Given the description of an element on the screen output the (x, y) to click on. 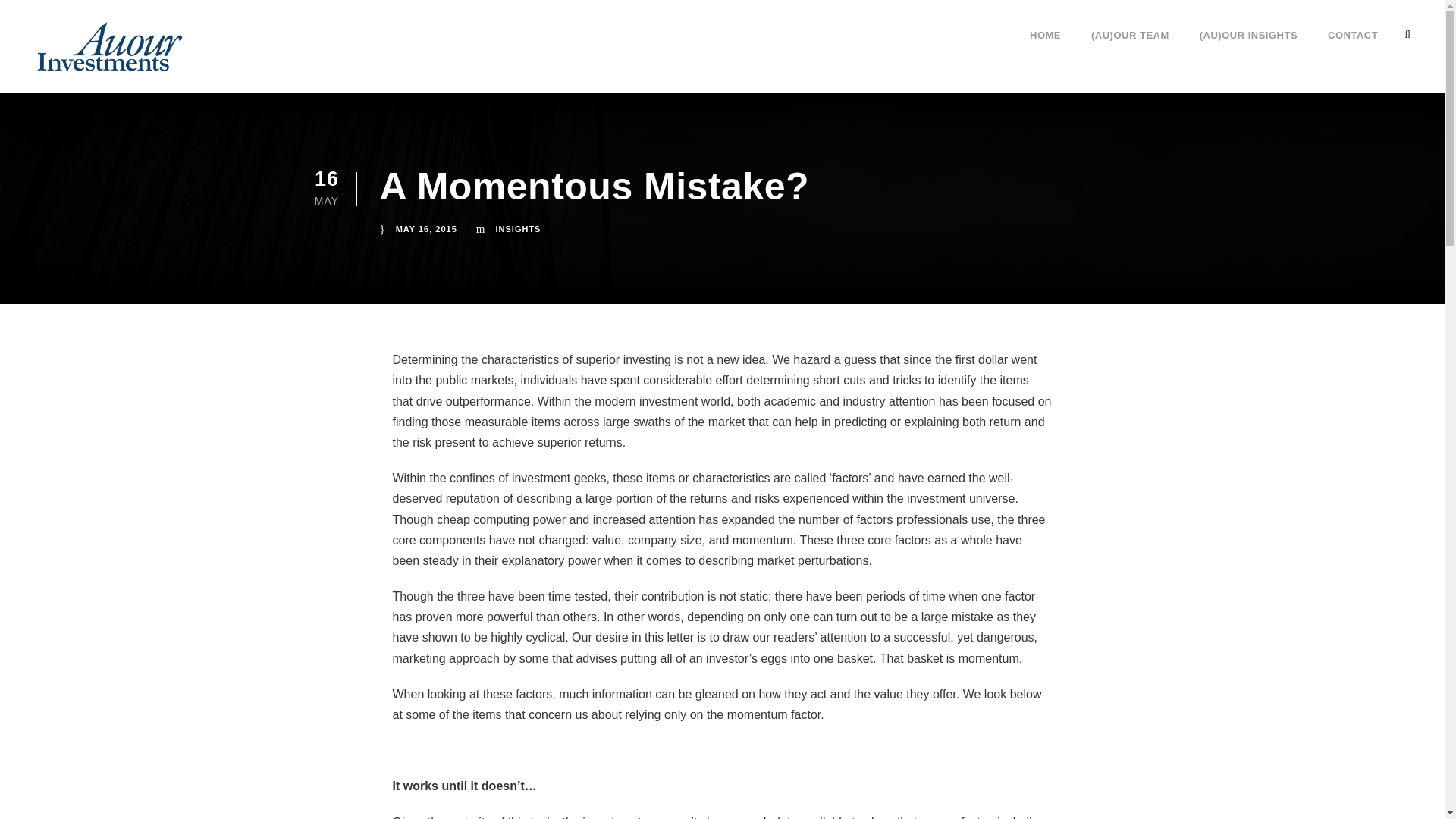
INSIGHTS (518, 228)
CONTACT (1352, 48)
here (583, 608)
ADV Part 2A (917, 621)
Form CRS (912, 641)
Brokercheck (978, 537)
Company headshots by David Shopper (423, 673)
HOME (1045, 48)
MAY 16, 2015 (426, 228)
